Given the description of an element on the screen output the (x, y) to click on. 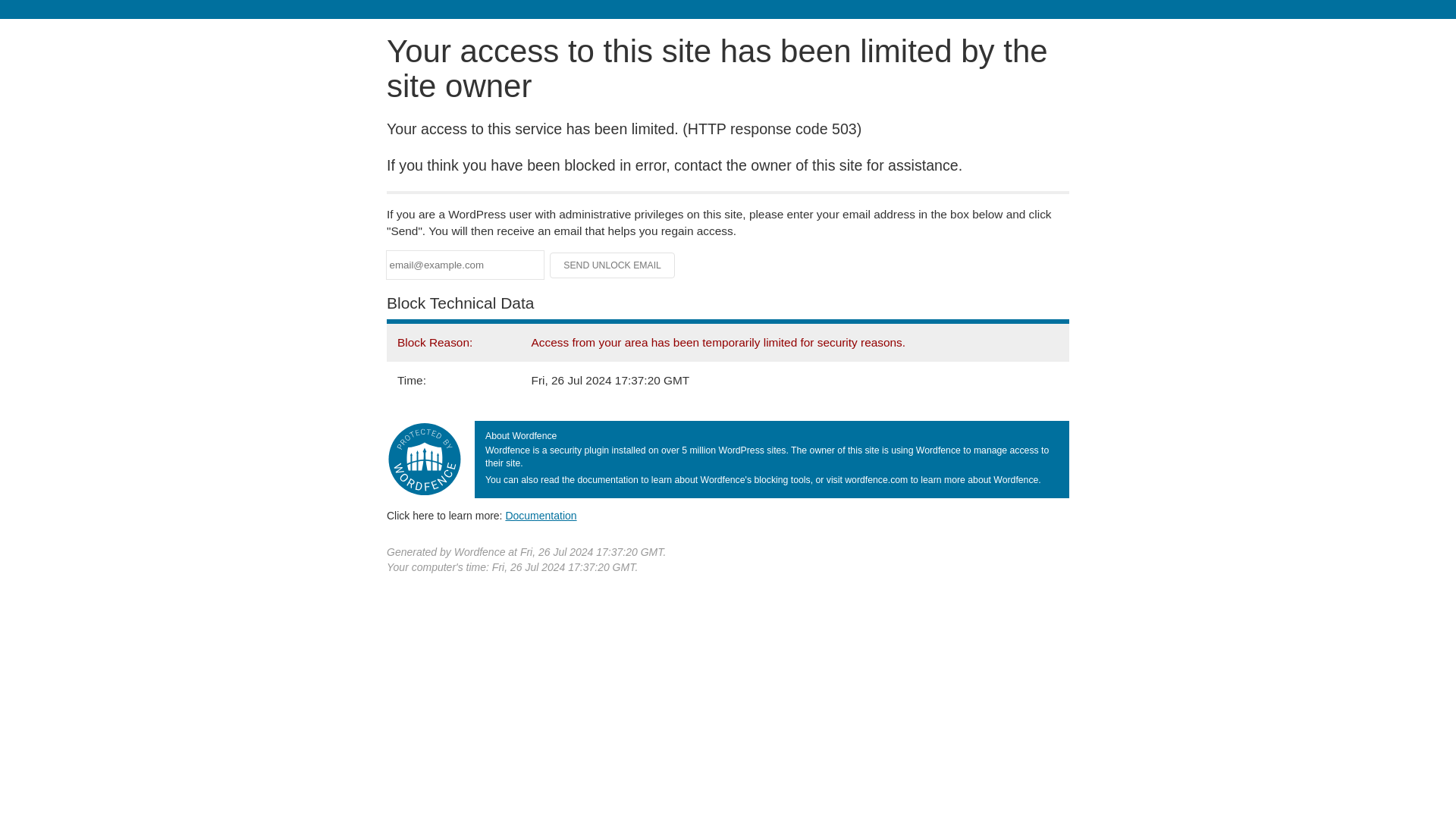
Send Unlock Email (612, 265)
Send Unlock Email (612, 265)
Documentation (540, 515)
